Given the description of an element on the screen output the (x, y) to click on. 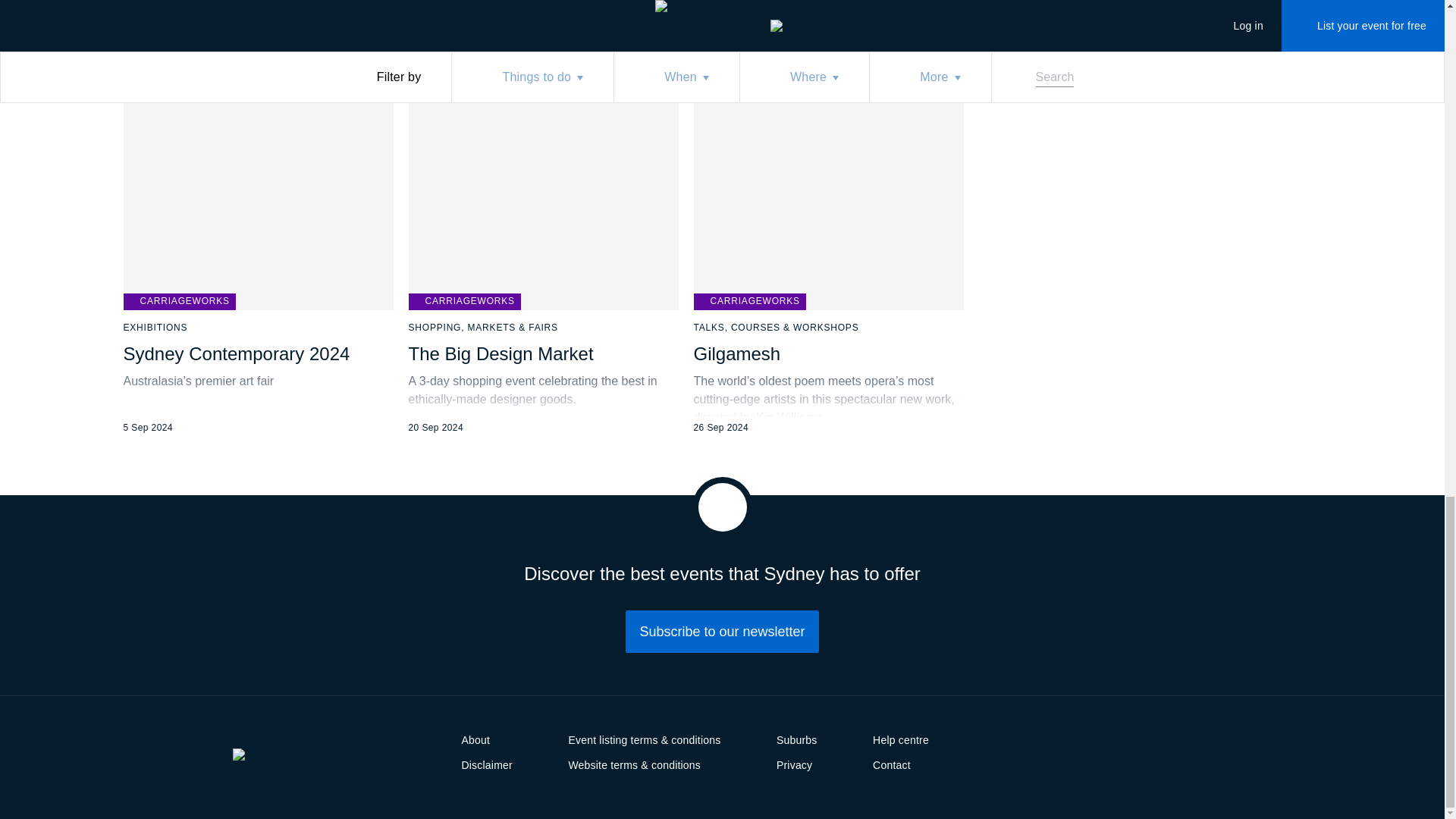
The Big Design Market (499, 353)
CARRIAGEWORKS (463, 301)
CARRIAGEWORKS (749, 301)
Gilgamesh (736, 353)
EXHIBITIONS (154, 328)
CARRIAGEWORKS (178, 301)
See all (682, 4)
Sydney Contemporary 2024 (235, 353)
